Given the description of an element on the screen output the (x, y) to click on. 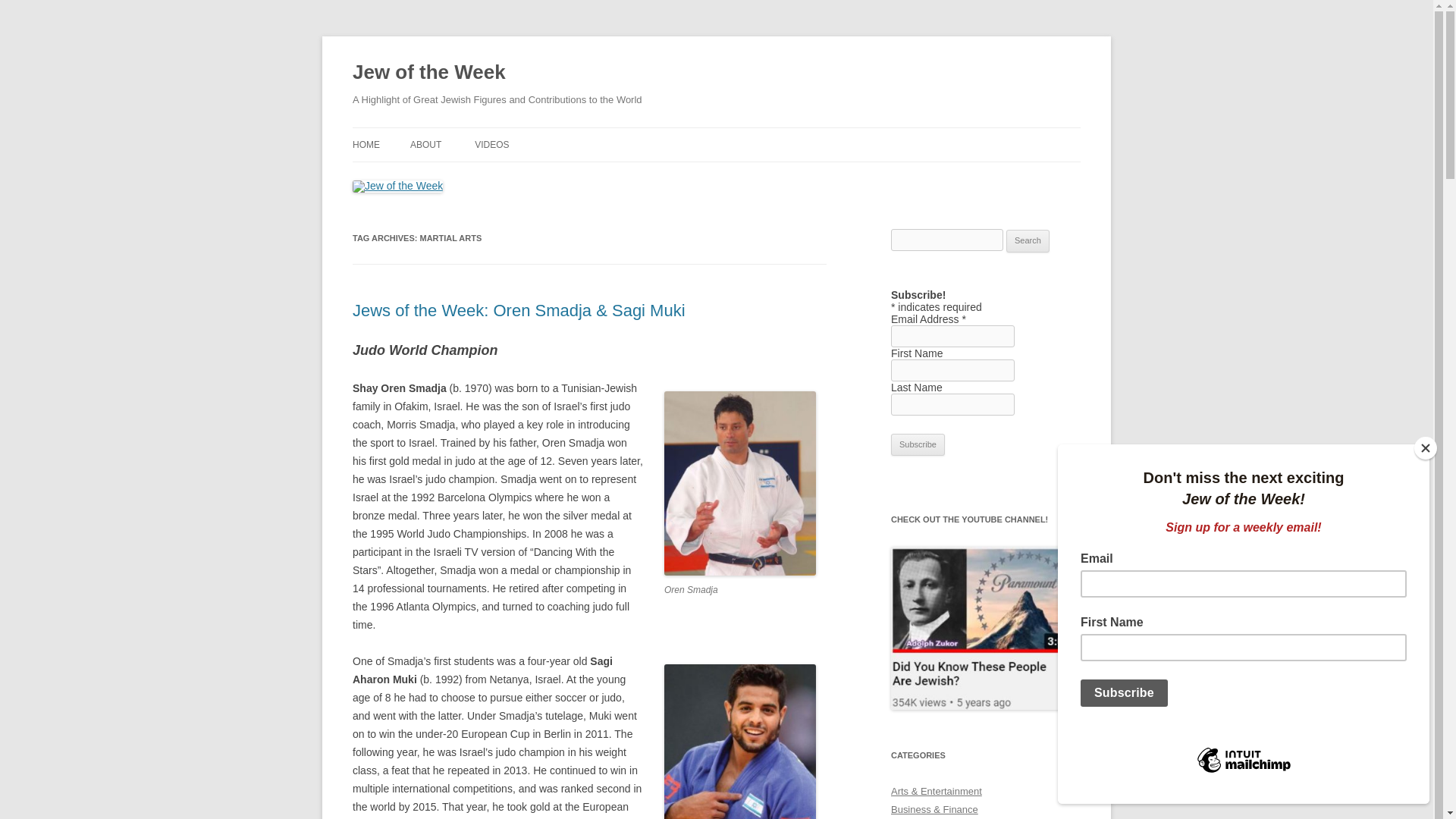
Search (1027, 241)
Jew of the Week (428, 72)
Subscribe (917, 445)
ABOUT (425, 144)
Jew of the Week (428, 72)
VIDEOS (491, 144)
